Given the description of an element on the screen output the (x, y) to click on. 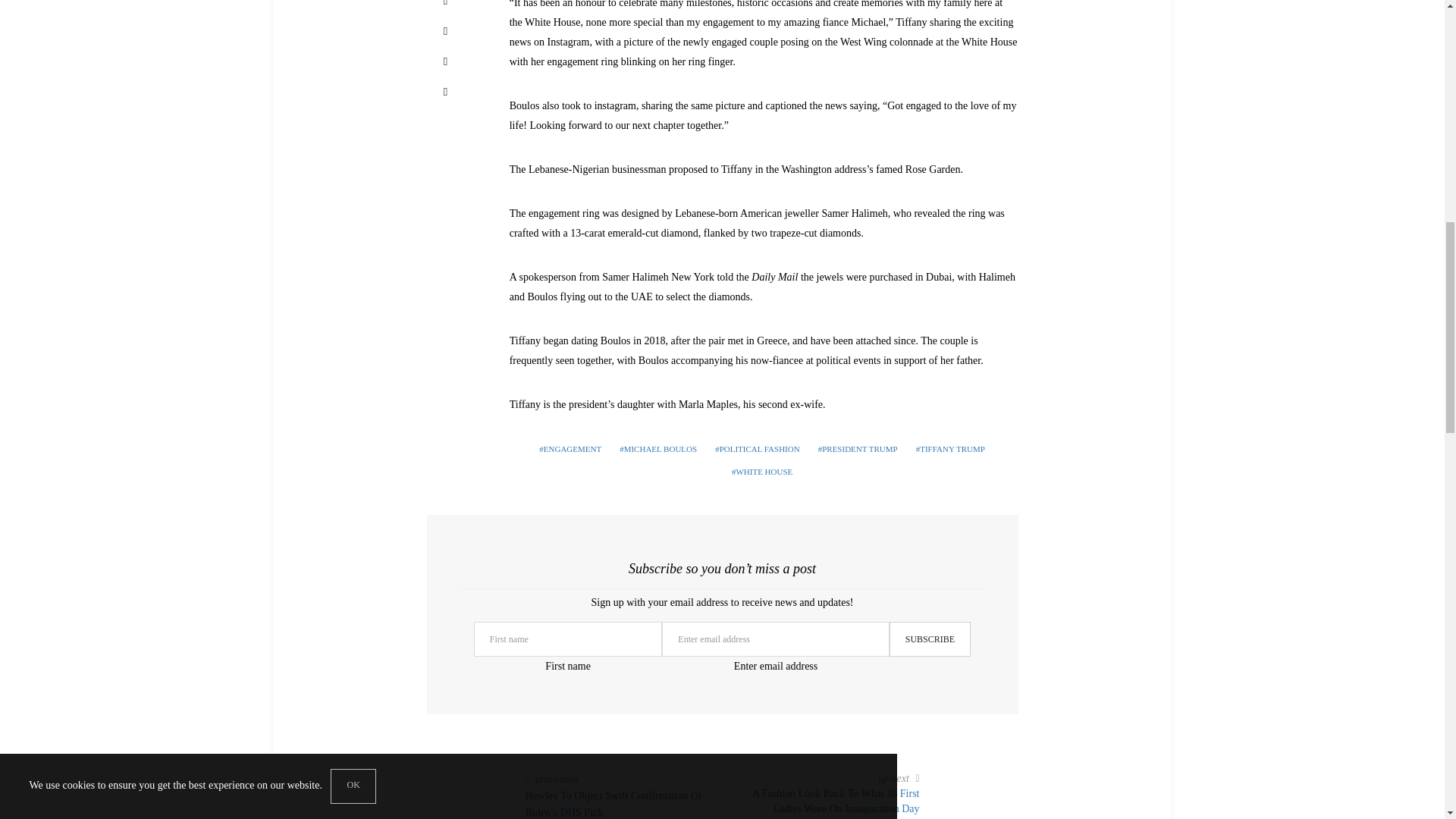
Subscribe (930, 638)
